Given the description of an element on the screen output the (x, y) to click on. 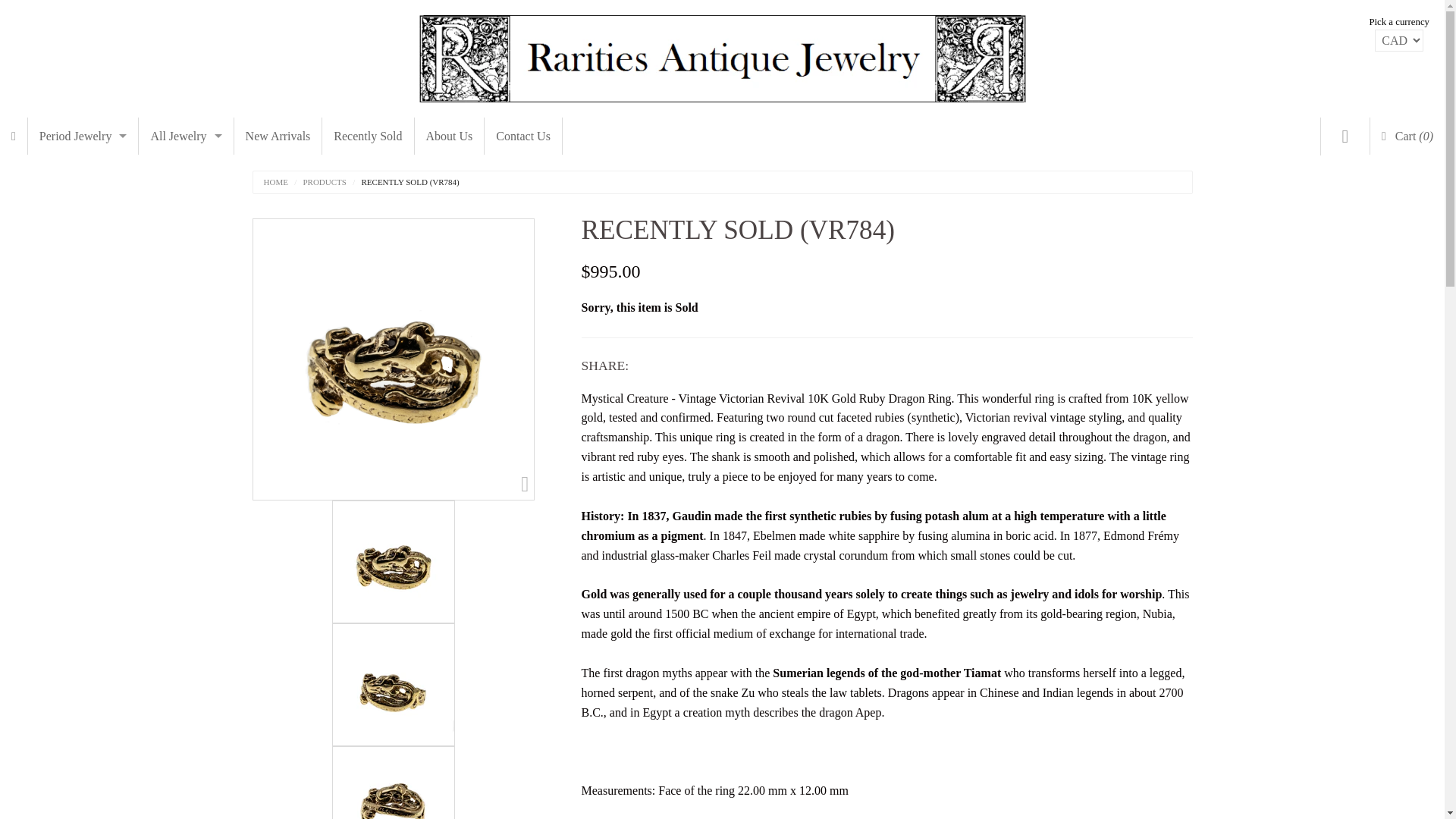
Contact Us (523, 135)
Rarities Antique Jewelry (722, 55)
New Arrivals (277, 135)
All Jewelry (185, 135)
Period Jewelry (82, 135)
Recently Sold (367, 135)
HOME (275, 182)
PRODUCTS (317, 182)
About Us (449, 135)
